Given the description of an element on the screen output the (x, y) to click on. 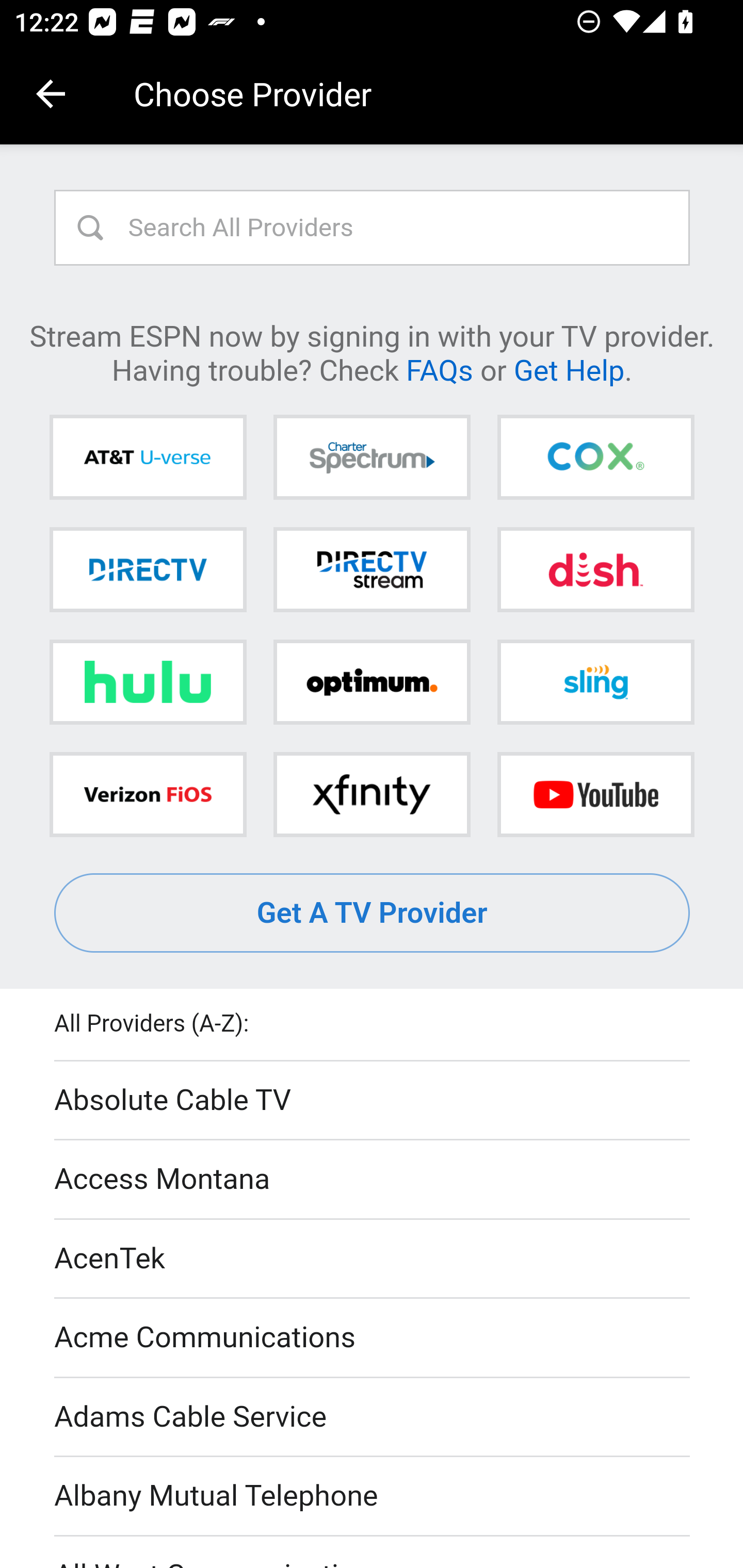
Navigate up (50, 93)
FAQs (438, 369)
Get Help (569, 369)
AT&T U-verse (147, 457)
Charter Spectrum (371, 457)
Cox (595, 457)
DIRECTV (147, 568)
DIRECTV STREAM (371, 568)
DISH (595, 568)
Hulu (147, 681)
Optimum (371, 681)
Sling TV (595, 681)
Verizon FiOS (147, 793)
Xfinity (371, 793)
YouTube TV (595, 793)
Get A TV Provider (372, 912)
Absolute Cable TV (372, 1100)
Access Montana (372, 1178)
AcenTek (372, 1258)
Acme Communications (372, 1338)
Adams Cable Service (372, 1417)
Albany Mutual Telephone (372, 1497)
